Given the description of an element on the screen output the (x, y) to click on. 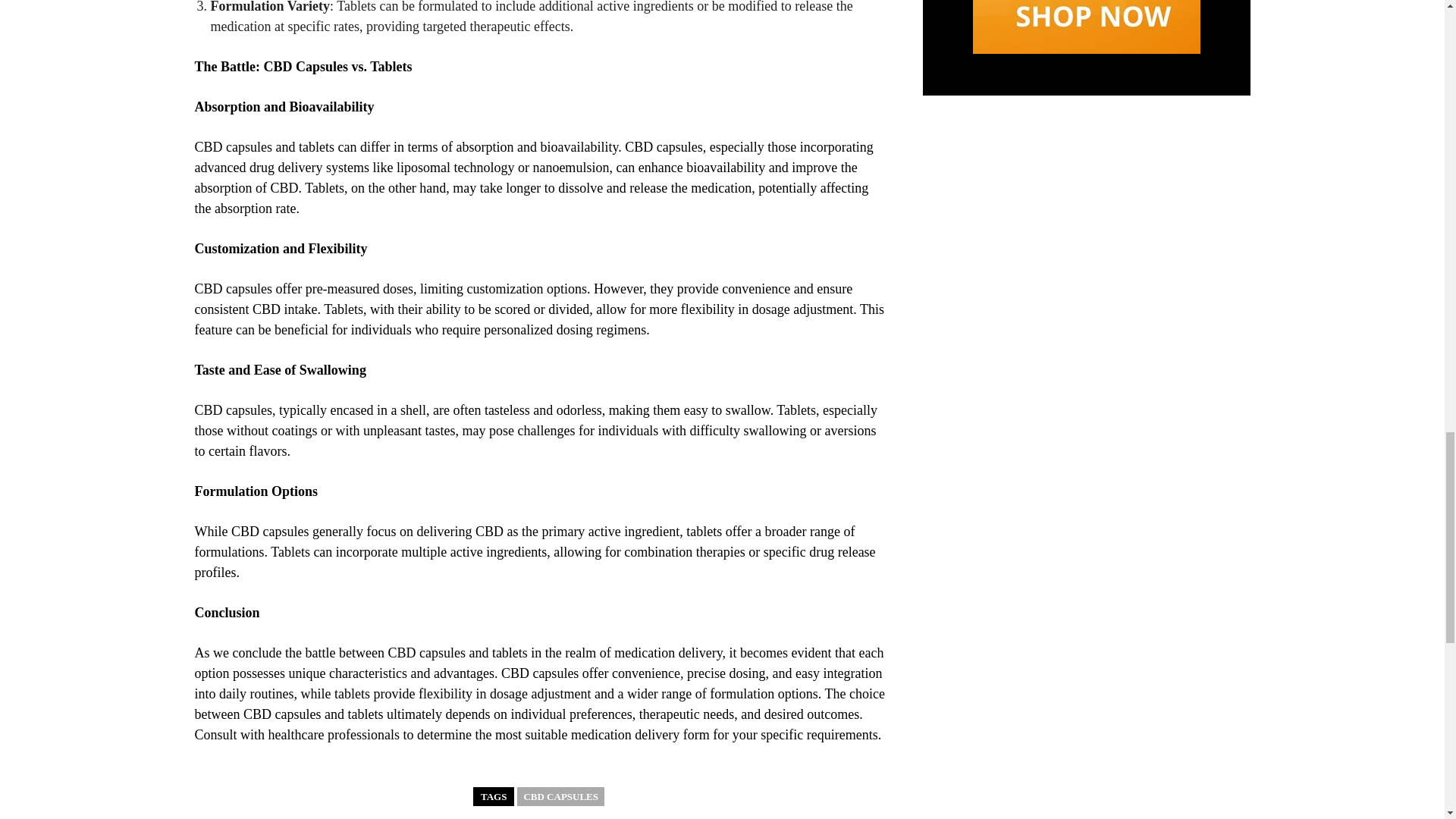
CBD CAPSULES (560, 796)
